Given the description of an element on the screen output the (x, y) to click on. 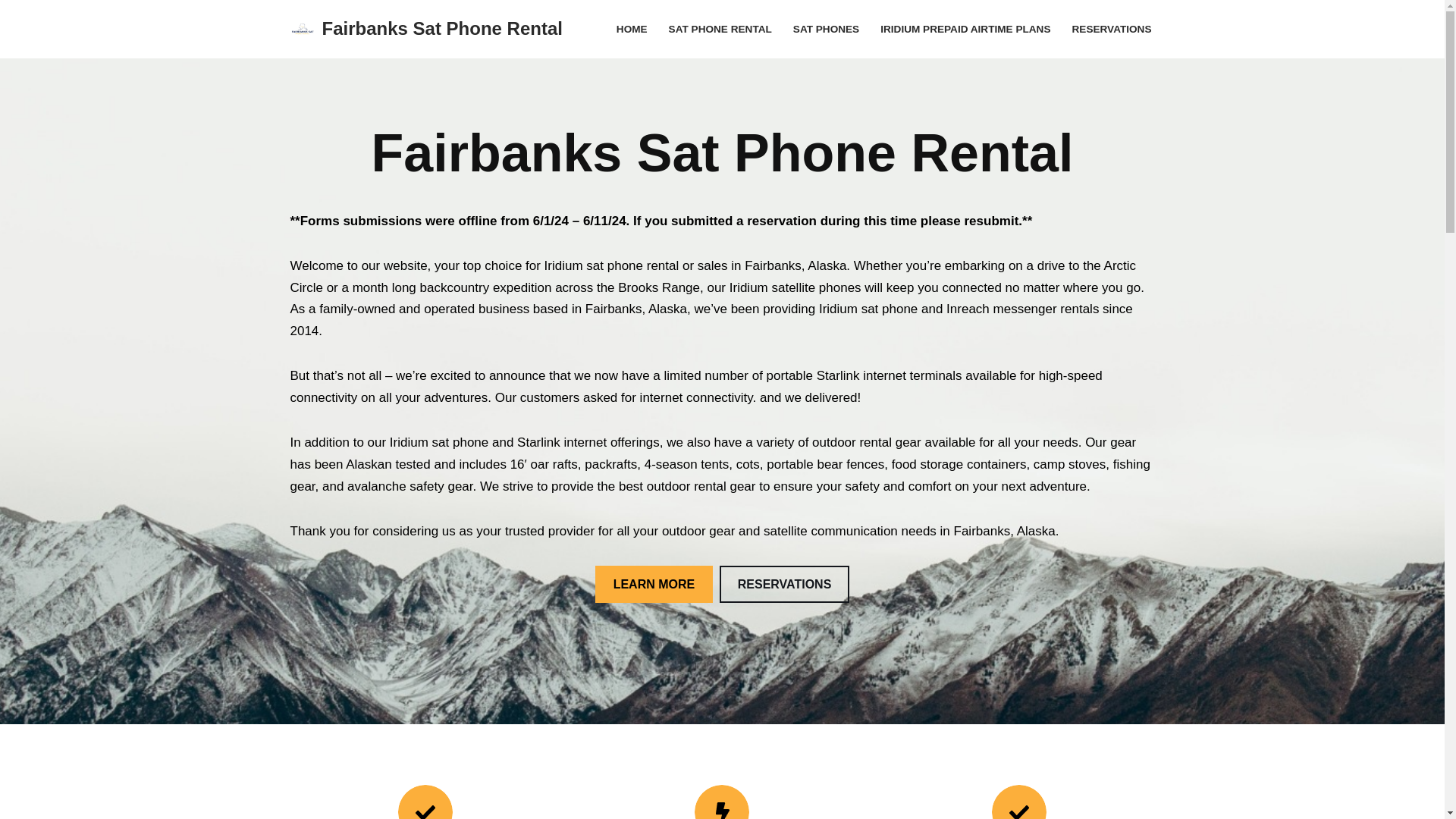
SAT PHONE RENTAL (719, 28)
IRIDIUM PREPAID AIRTIME PLANS (964, 28)
SAT PHONES (826, 28)
RESERVATIONS (1111, 28)
Fairbanks Sat Phone Rental (425, 29)
RESERVATIONS (784, 584)
HOME (631, 28)
Skip to content (11, 31)
LEARN MORE (654, 584)
